Given the description of an element on the screen output the (x, y) to click on. 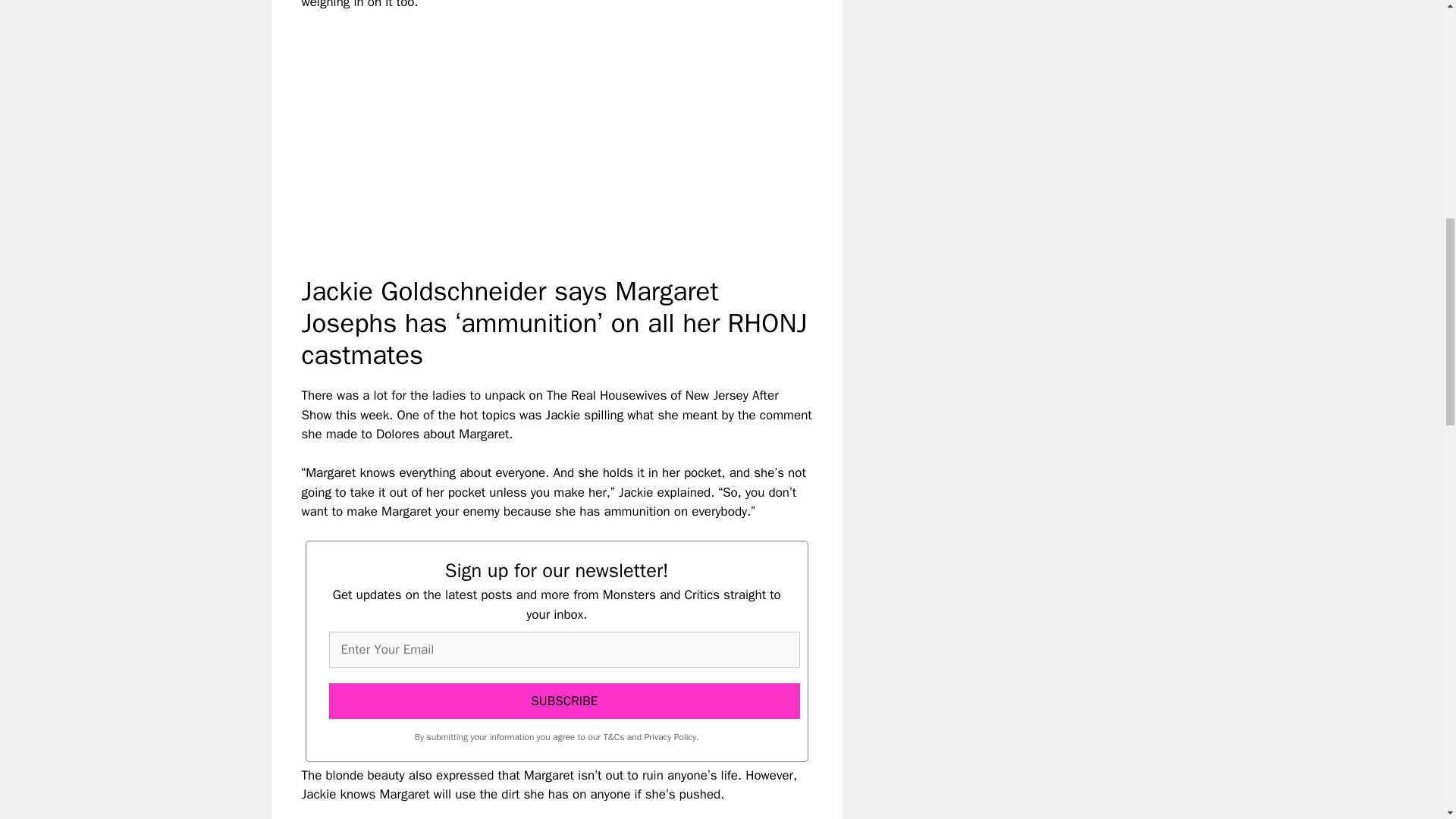
SUBSCRIBE (564, 701)
SUBSCRIBE (564, 701)
YouTube video player (513, 130)
